Given the description of an element on the screen output the (x, y) to click on. 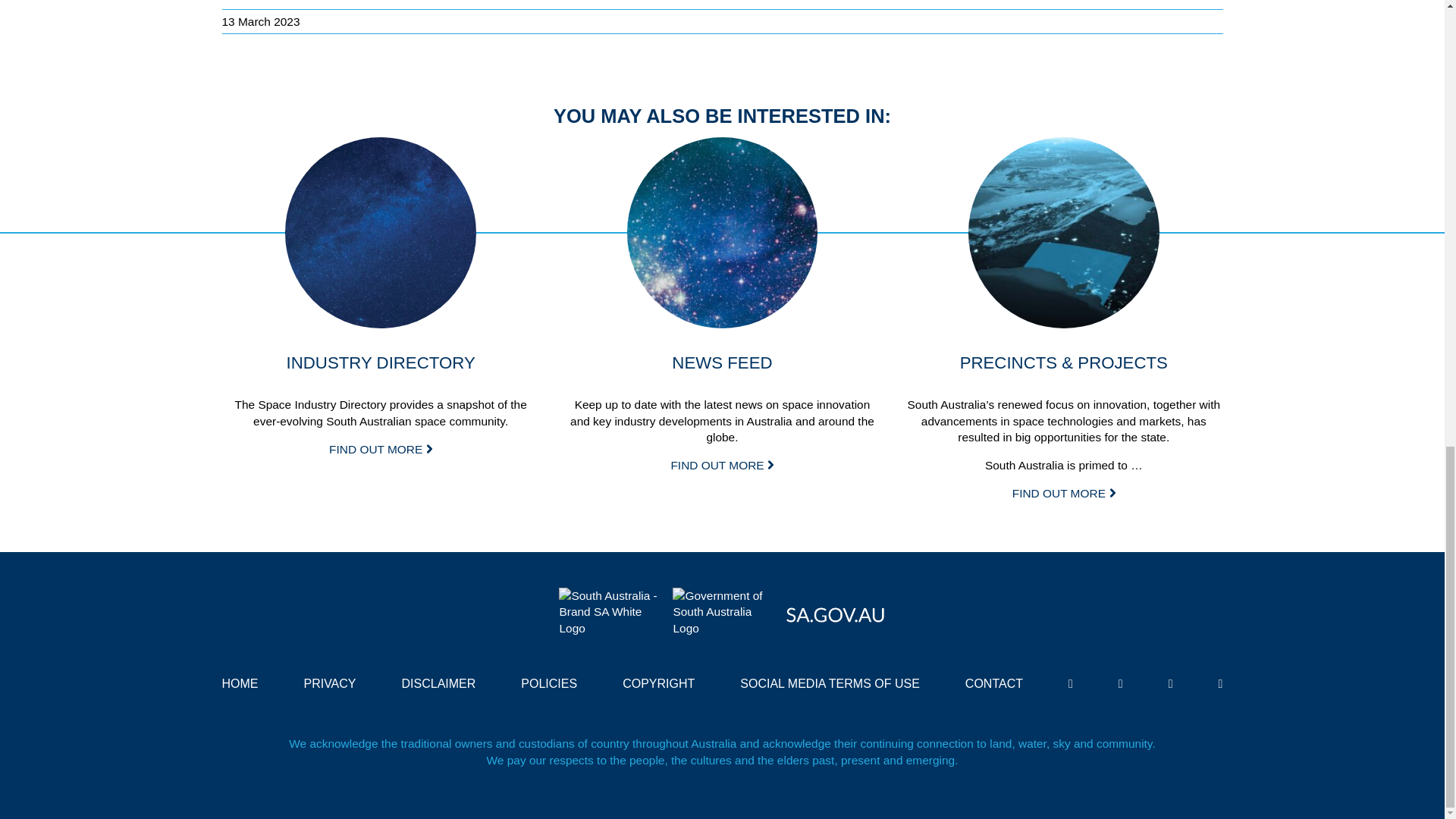
Government of South Australia Logo (721, 612)
View: News Feed (722, 232)
South Australia White Logo (608, 612)
View: INDUSTRY DIRECTORY (380, 232)
sa.gov.au logo (835, 611)
View: News Feed (721, 464)
View: INDUSTRY DIRECTORY (380, 449)
